Given the description of an element on the screen output the (x, y) to click on. 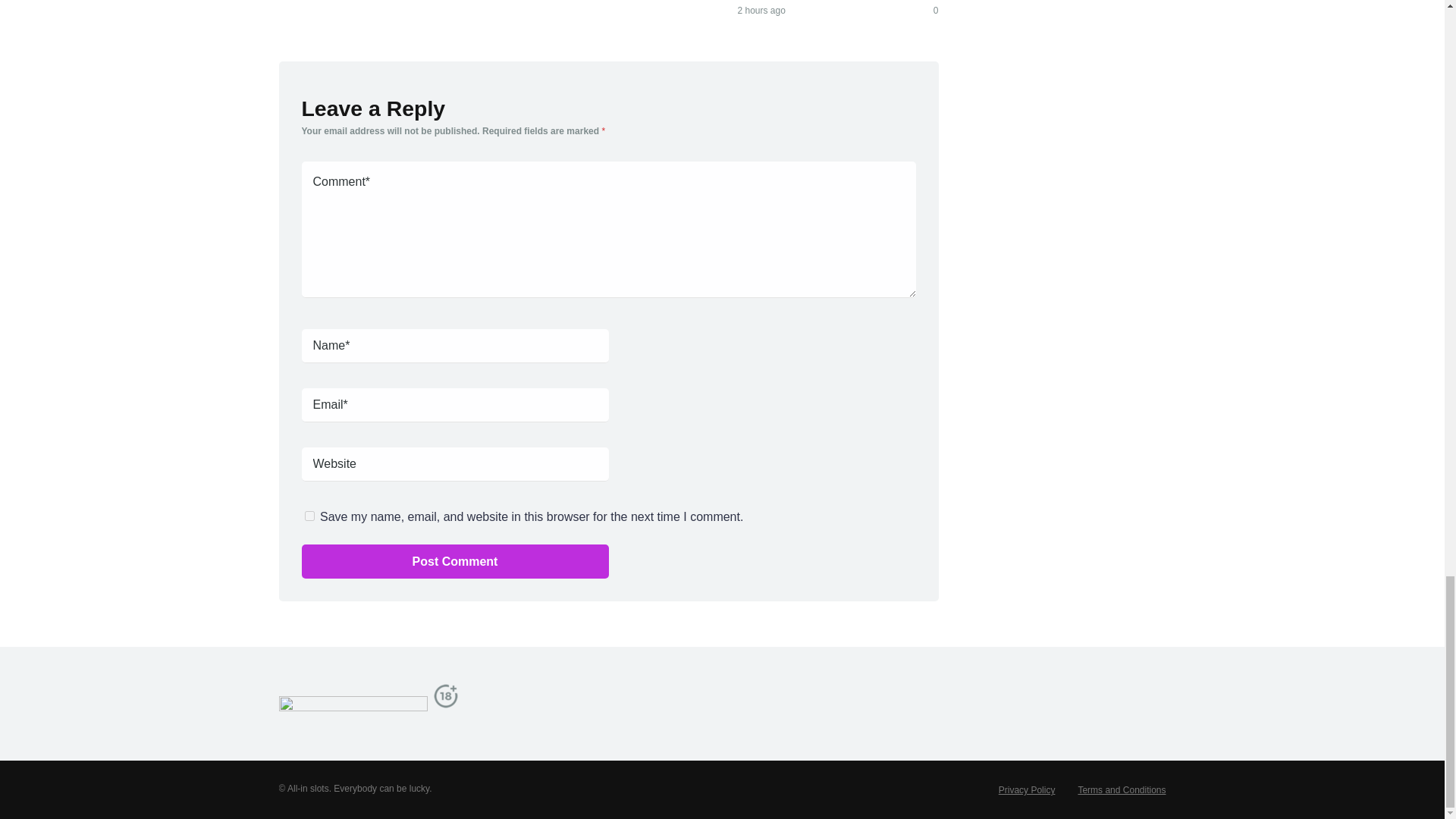
Post Comment (454, 561)
yes (309, 515)
